Given the description of an element on the screen output the (x, y) to click on. 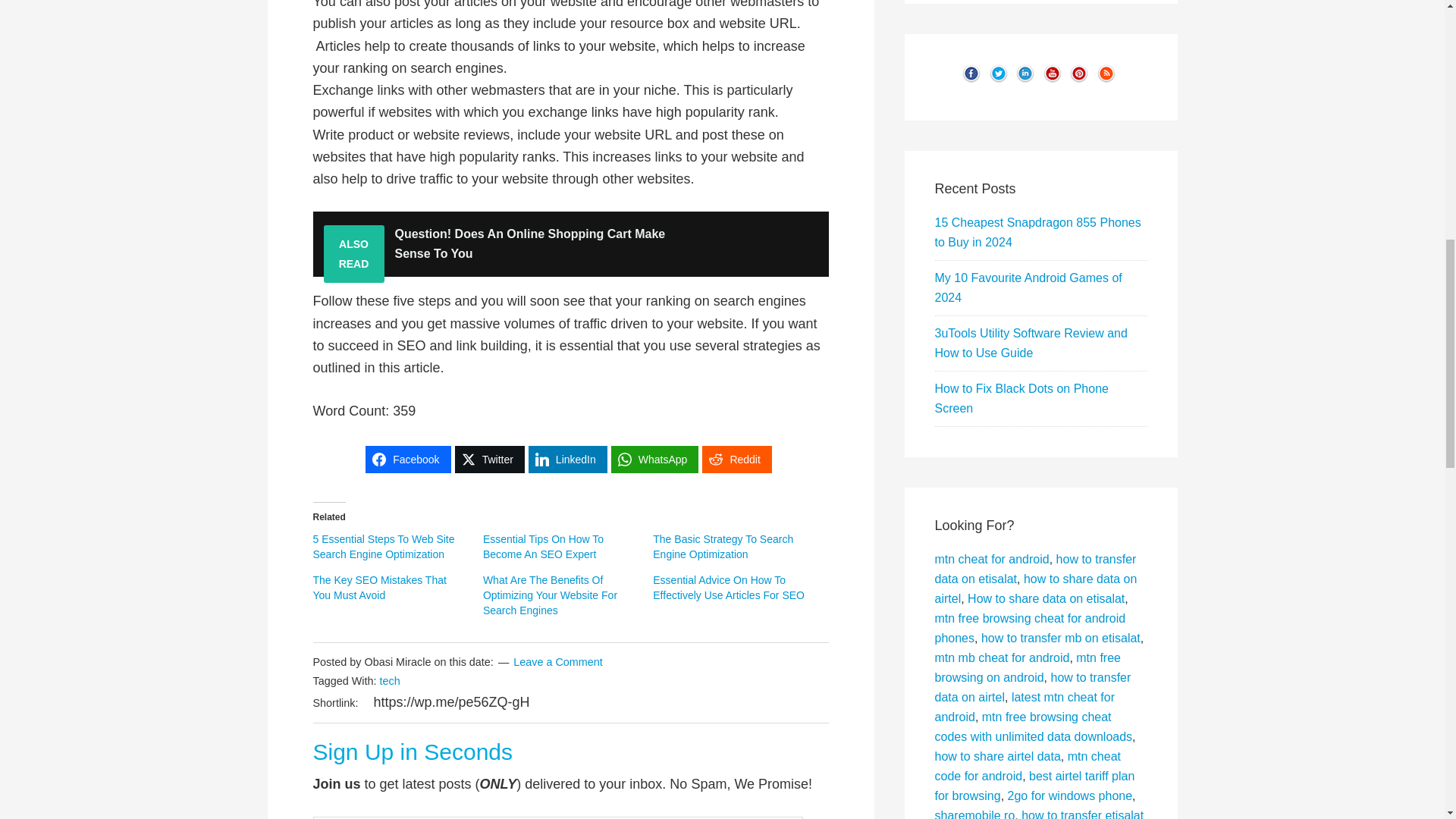
tech (388, 680)
Share on Twitter (489, 459)
Share on Reddit (736, 459)
Leave a Comment (557, 662)
Share on Facebook (407, 459)
follow us on facebook (970, 79)
5 Essential Steps To Web Site Search Engine Optimization (383, 546)
The Basic Strategy To Search Engine Optimization (722, 546)
WhatsApp (654, 459)
LinkedIn (567, 459)
Share on LinkedIn (567, 459)
Facebook (407, 459)
The Key SEO Mistakes That You Must Avoid (379, 587)
